Given the description of an element on the screen output the (x, y) to click on. 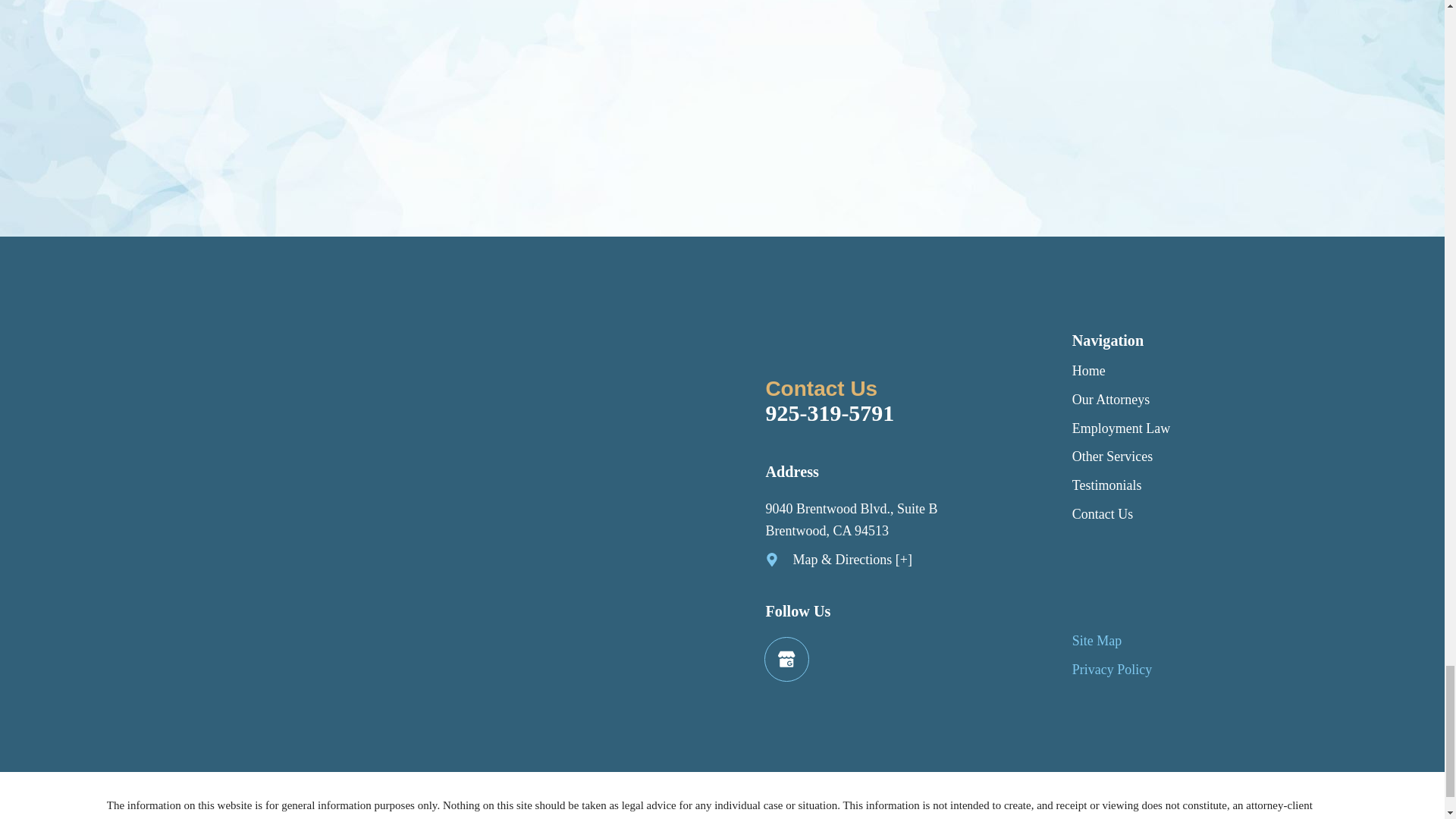
Contact Us (1102, 513)
Home (1088, 370)
Testimonials (1106, 485)
Employment Law (1120, 427)
925-319-5791 (897, 413)
Other Services (1112, 456)
Privacy Policy (1112, 669)
Our Attorneys (1110, 399)
Site Map (1096, 640)
